Given the description of an element on the screen output the (x, y) to click on. 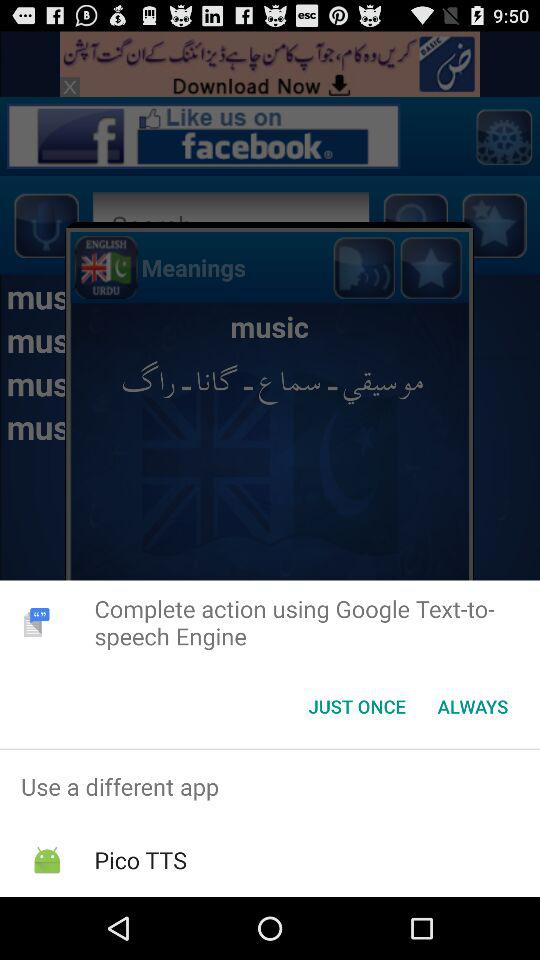
flip to always icon (472, 706)
